Given the description of an element on the screen output the (x, y) to click on. 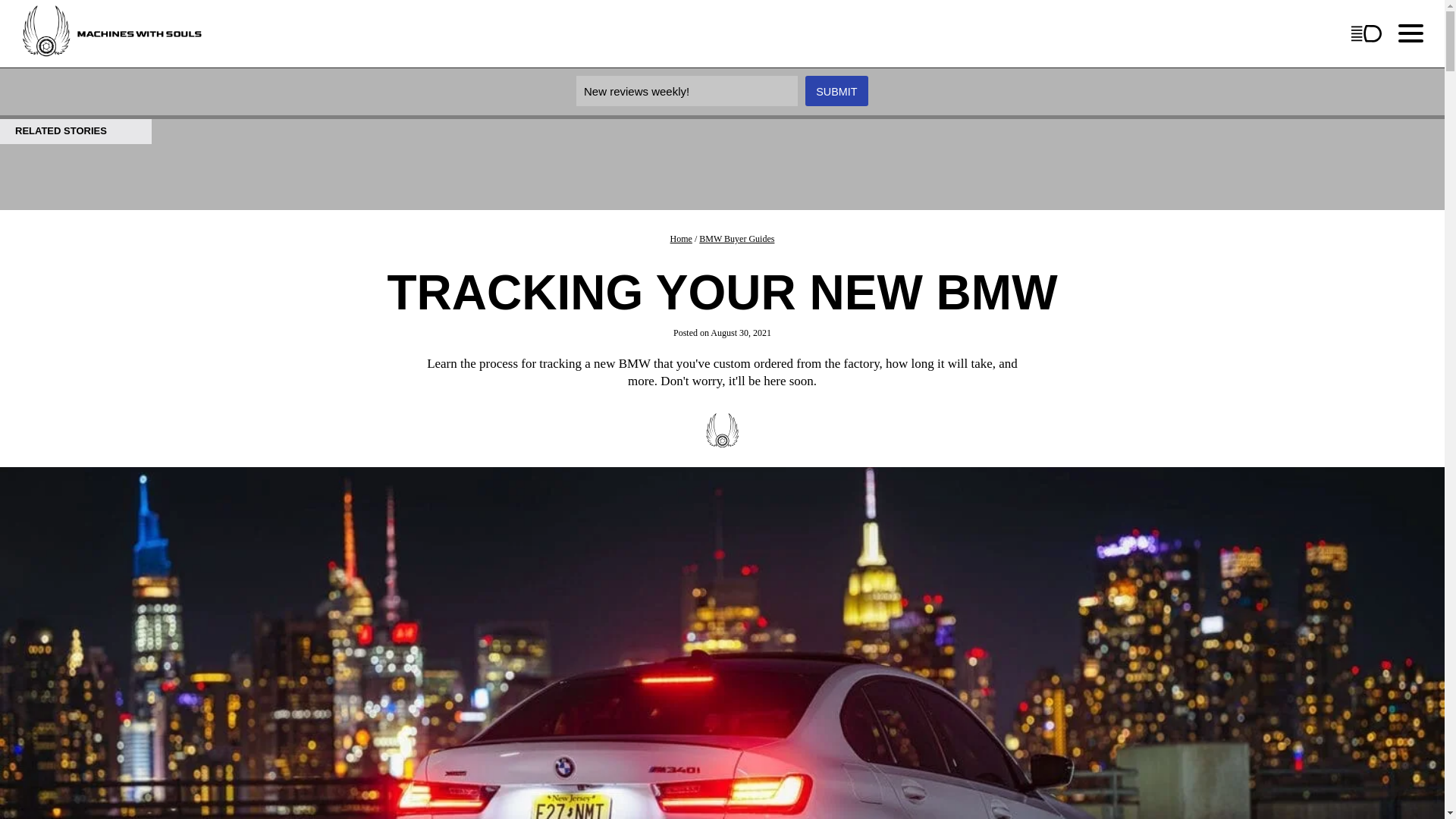
BMW Buyer Guides (736, 238)
New reviews weekly! (686, 91)
Home (681, 238)
Should you take home a CPO... (631, 51)
August 30, 2021 (740, 332)
SUBMIT (836, 91)
SUBMIT (836, 91)
Search (108, 18)
Machines With Souls (74, 88)
